Given the description of an element on the screen output the (x, y) to click on. 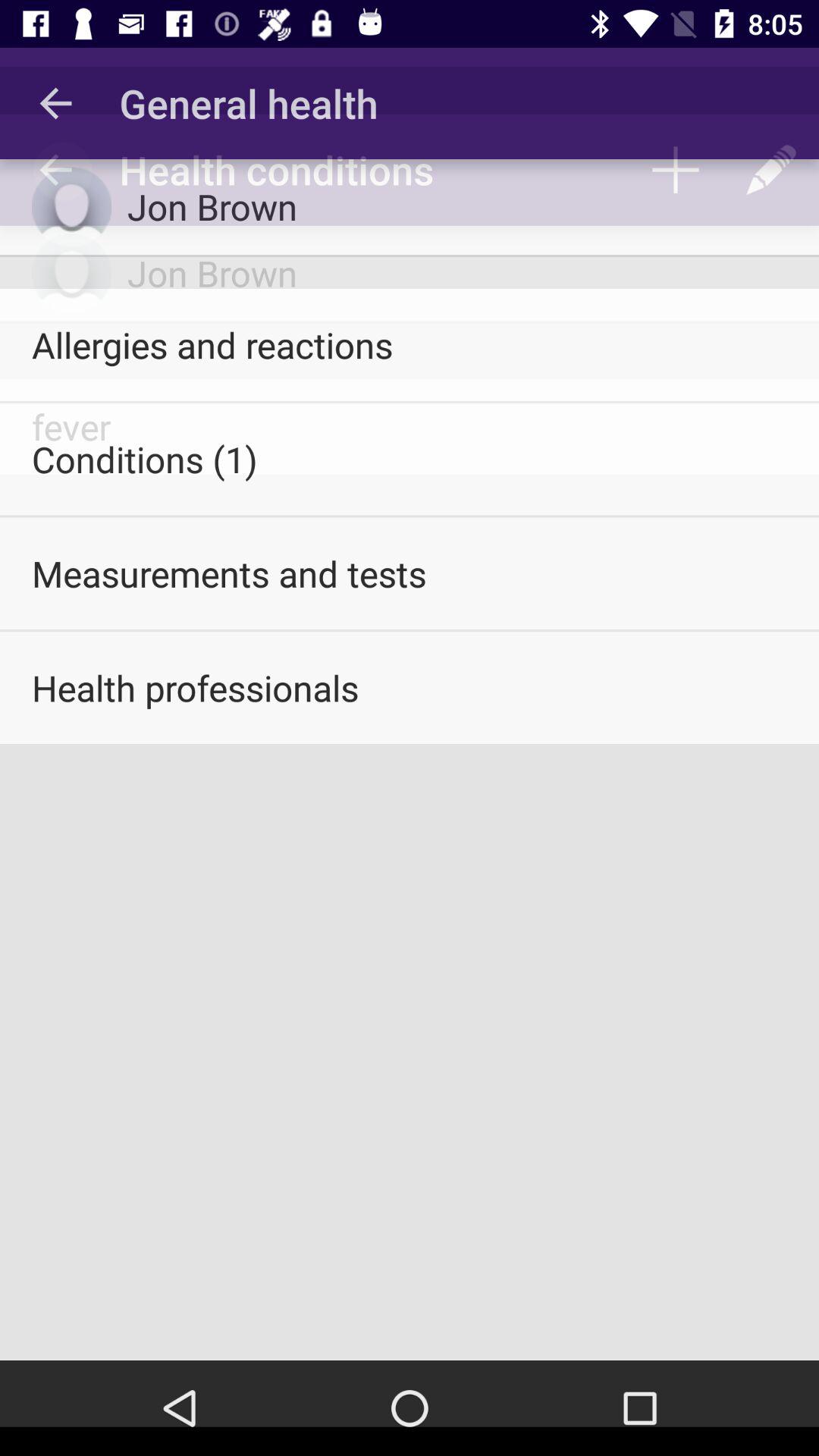
tap the allergies and reactions  icon (409, 344)
